Given the description of an element on the screen output the (x, y) to click on. 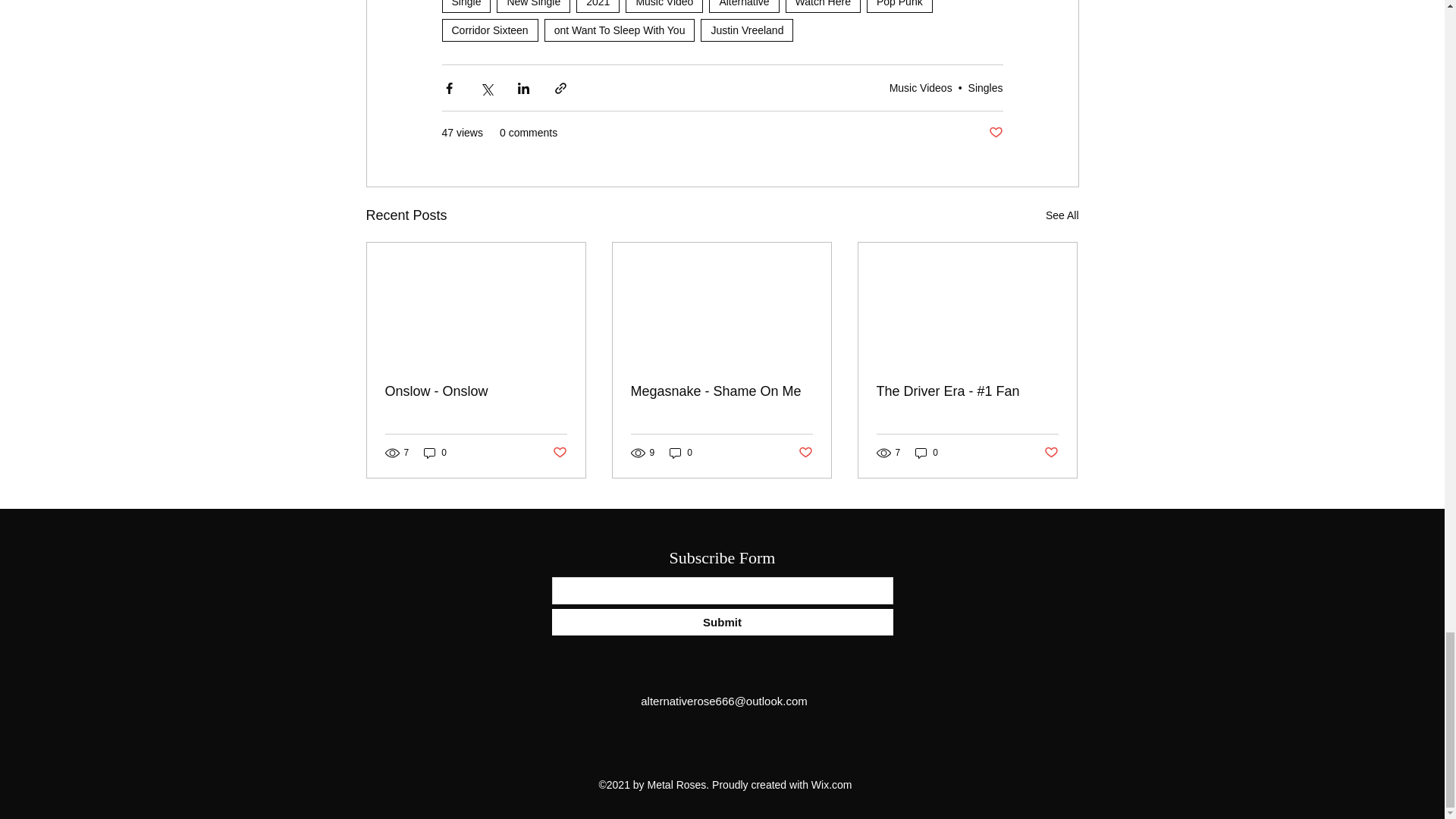
New Single (533, 6)
Singles (985, 87)
Justin Vreeland (746, 29)
Pop Punk (899, 6)
Music Videos (920, 87)
Alternative (743, 6)
Corridor Sixteen (489, 29)
2021 (598, 6)
Single (465, 6)
ont Want To Sleep With You (619, 29)
